Given the description of an element on the screen output the (x, y) to click on. 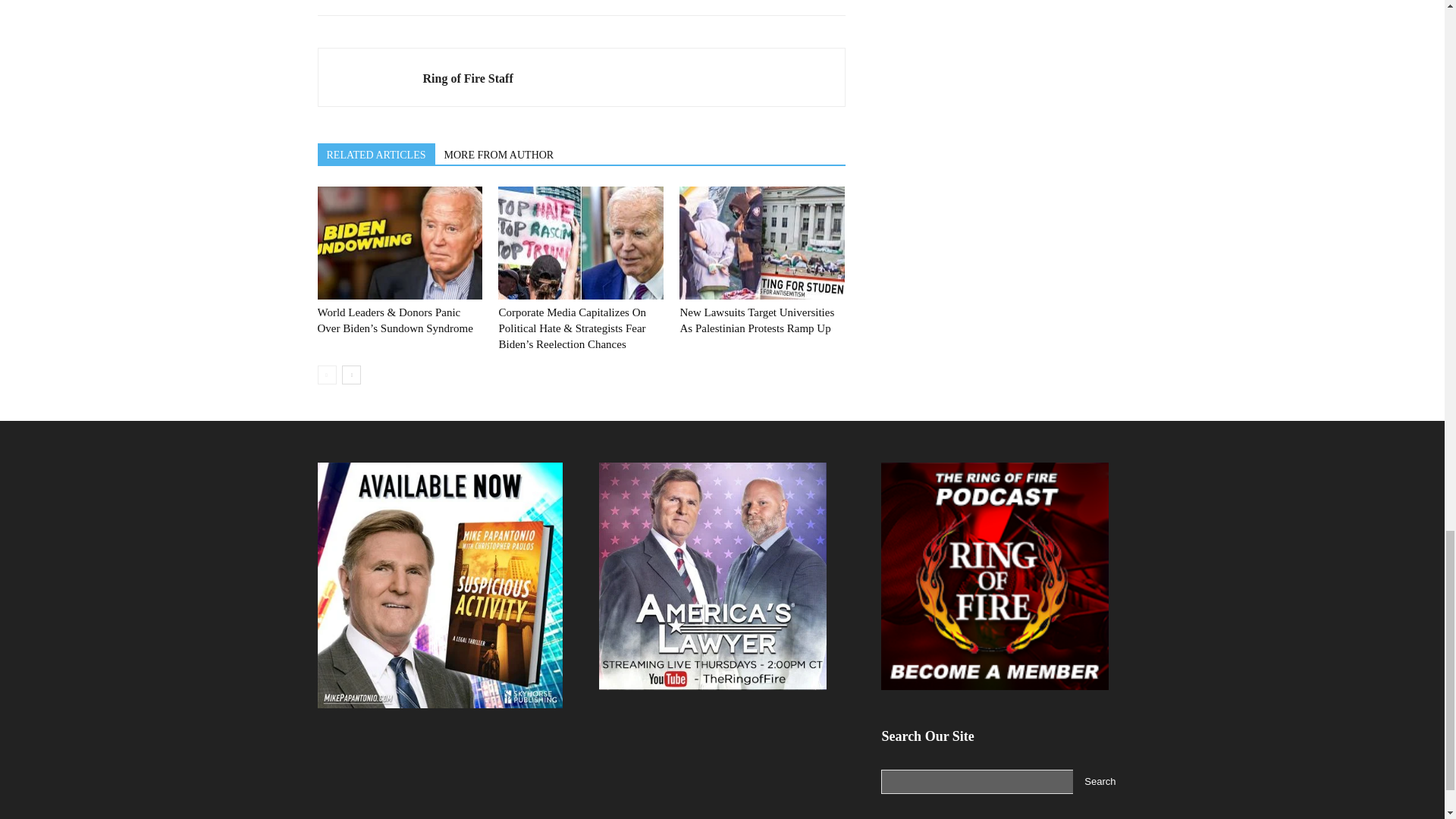
Search (1099, 781)
